Given the description of an element on the screen output the (x, y) to click on. 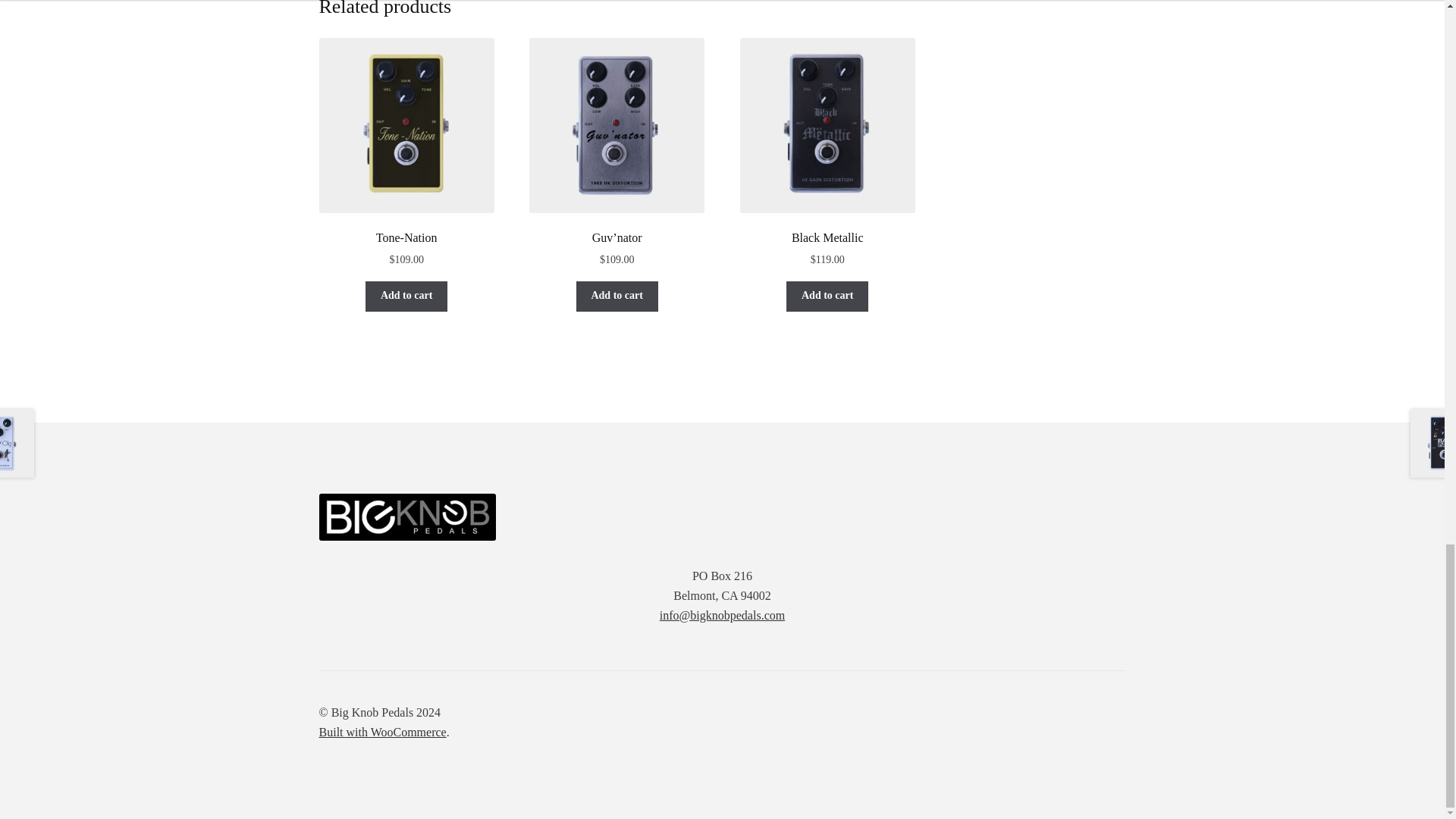
Add to cart (405, 296)
Add to cart (617, 296)
WooCommerce - The Best eCommerce Platform for WordPress (382, 731)
Add to cart (826, 296)
